Given the description of an element on the screen output the (x, y) to click on. 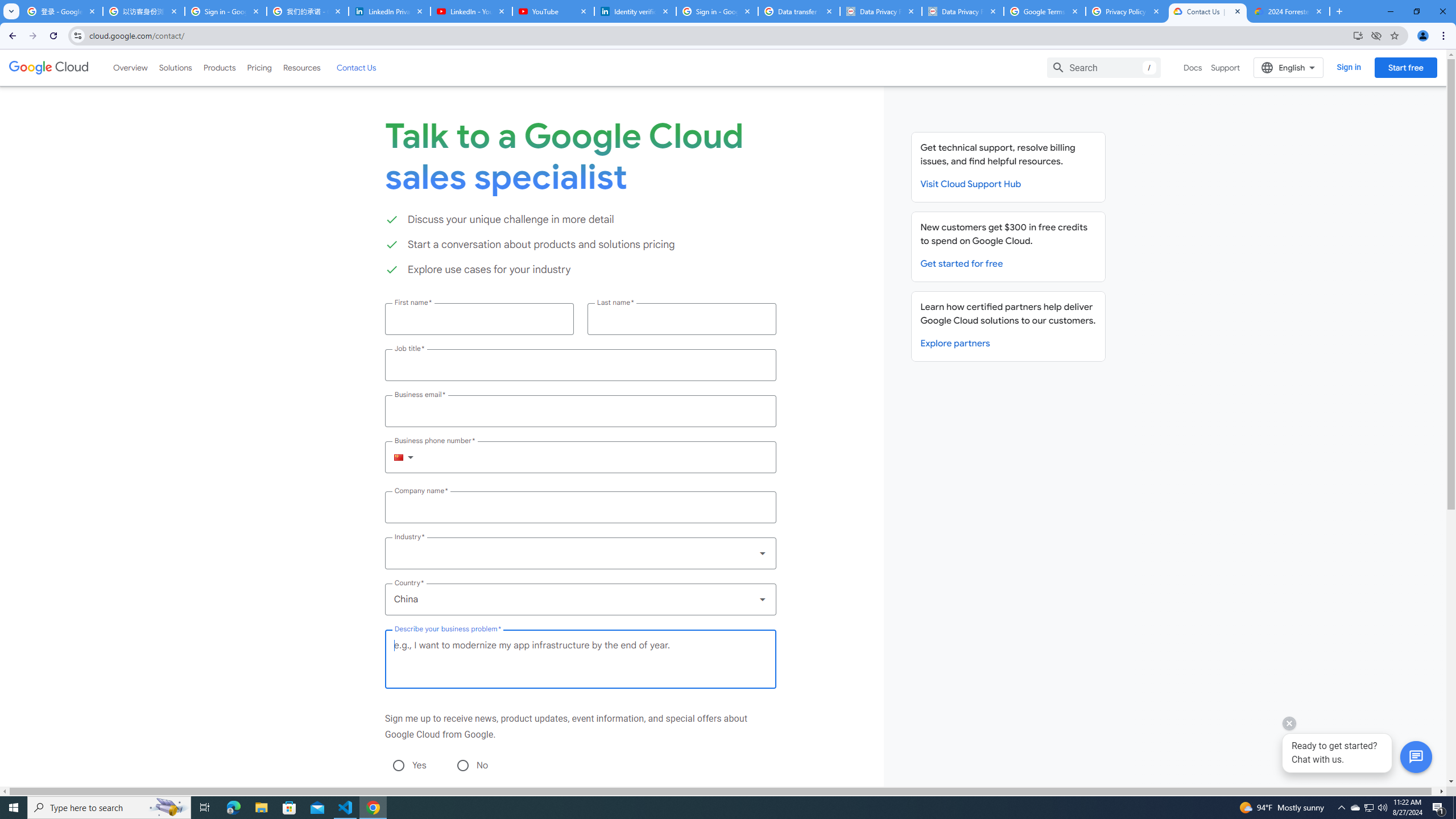
First name * (478, 318)
Sign in - Google Accounts (716, 11)
Products (218, 67)
Contact Us (355, 67)
Pricing (259, 67)
Start free (1405, 67)
Data Privacy Framework (963, 11)
